Given the description of an element on the screen output the (x, y) to click on. 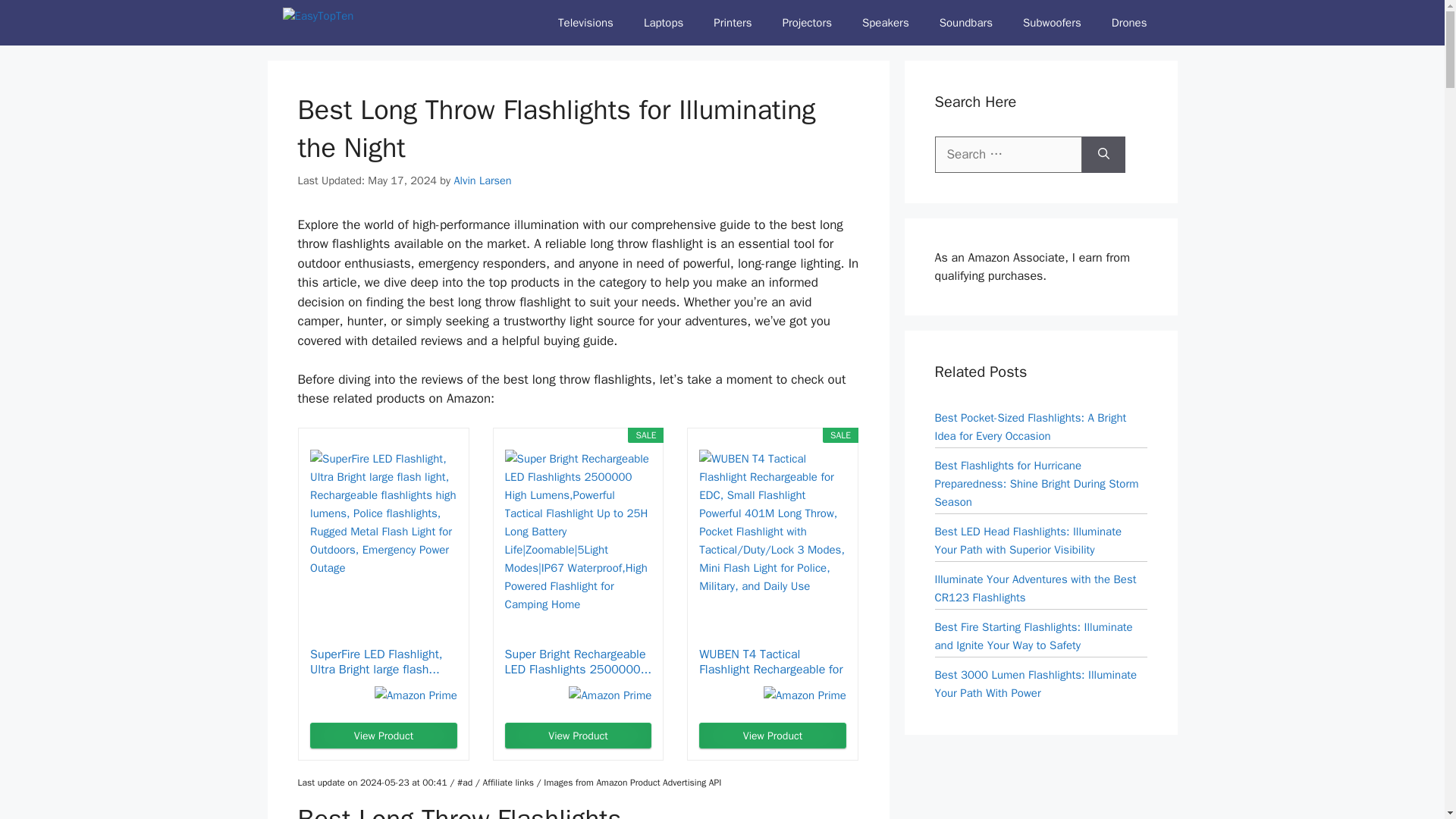
View Product (383, 735)
Alvin Larsen (481, 180)
Super Bright Rechargeable LED Flashlights 2500000... (578, 662)
View all posts by Alvin Larsen (481, 180)
WUBEN T4 Tactical Flashlight Rechargeable for EDC,... (771, 662)
Speakers (885, 22)
Projectors (807, 22)
Amazon Prime (415, 695)
SuperFire LED Flashlight, Ultra Bright large flash... (383, 662)
Drones (1128, 22)
Soundbars (965, 22)
View Product (578, 735)
EasyTopTen (357, 22)
Illuminate Your Adventures with the Best CR123 Flashlights (1034, 587)
